Given the description of an element on the screen output the (x, y) to click on. 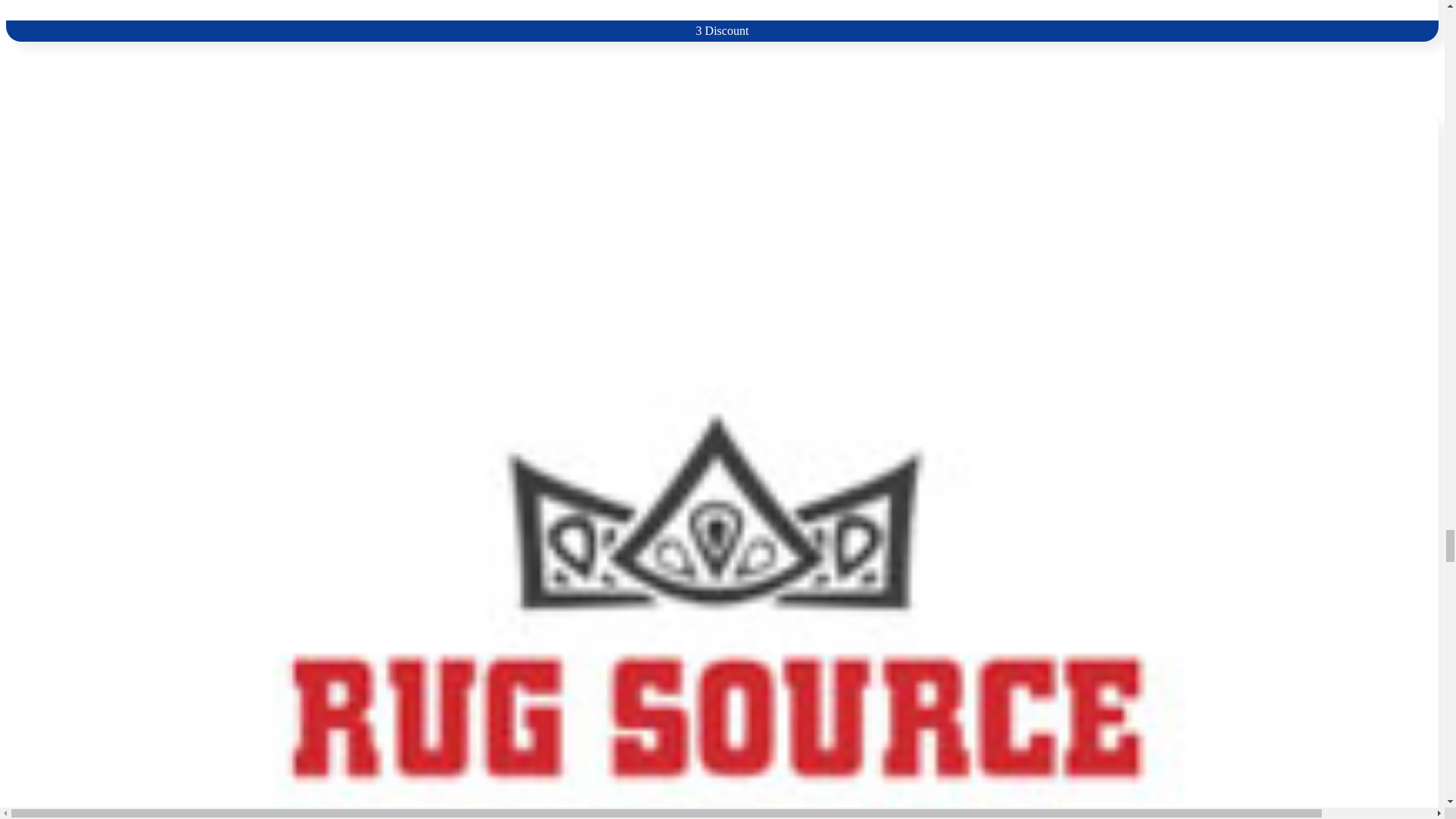
3 Discount (721, 20)
